Given the description of an element on the screen output the (x, y) to click on. 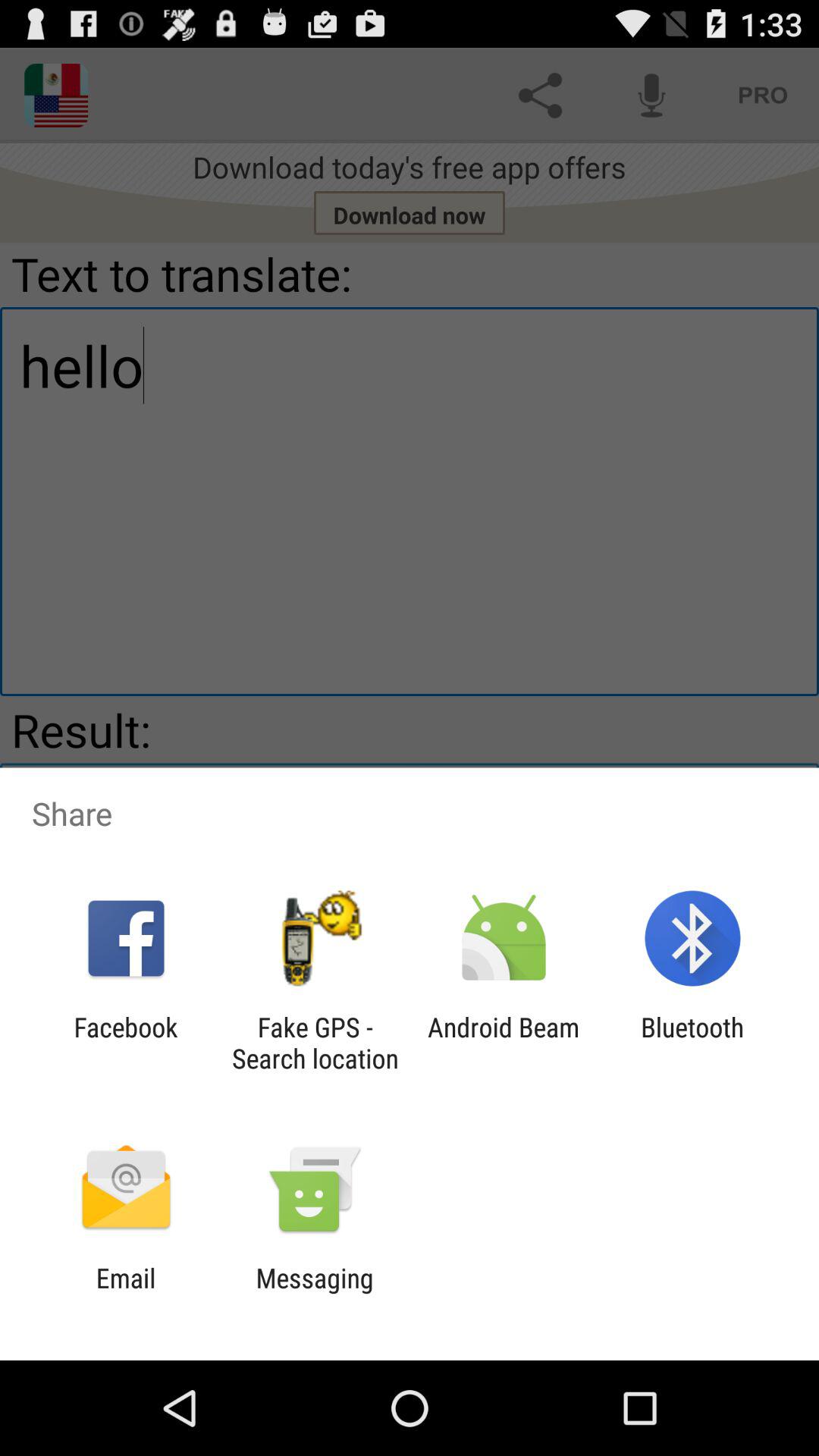
tap android beam icon (503, 1042)
